Given the description of an element on the screen output the (x, y) to click on. 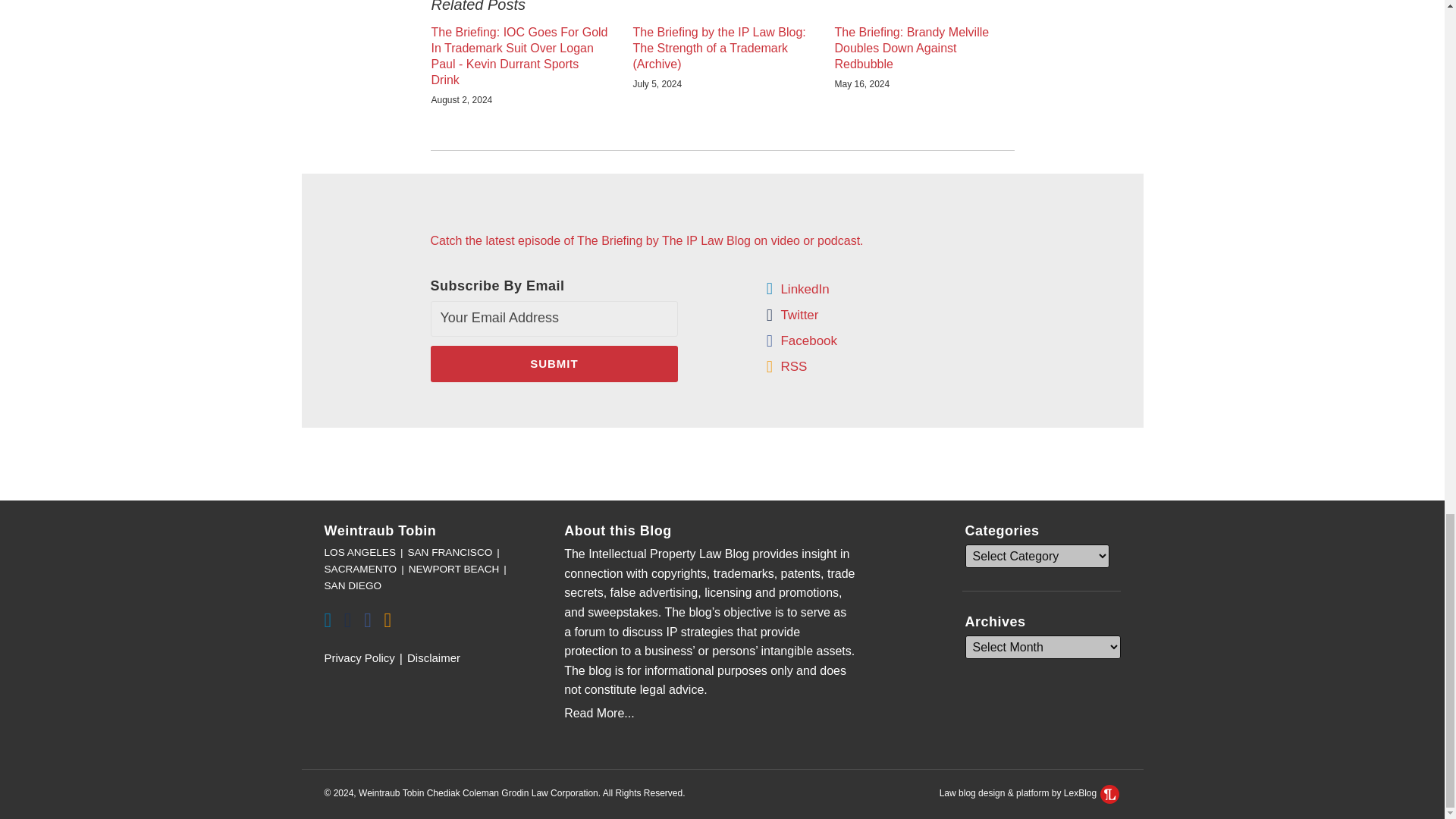
LexBlog Logo (1109, 793)
Submit (554, 363)
LinkedIn (804, 289)
Twitter (799, 314)
Submit (554, 363)
RSS (793, 366)
Facebook (808, 340)
The Briefing: Brandy Melville Doubles Down Against Redbubble (923, 48)
